Given the description of an element on the screen output the (x, y) to click on. 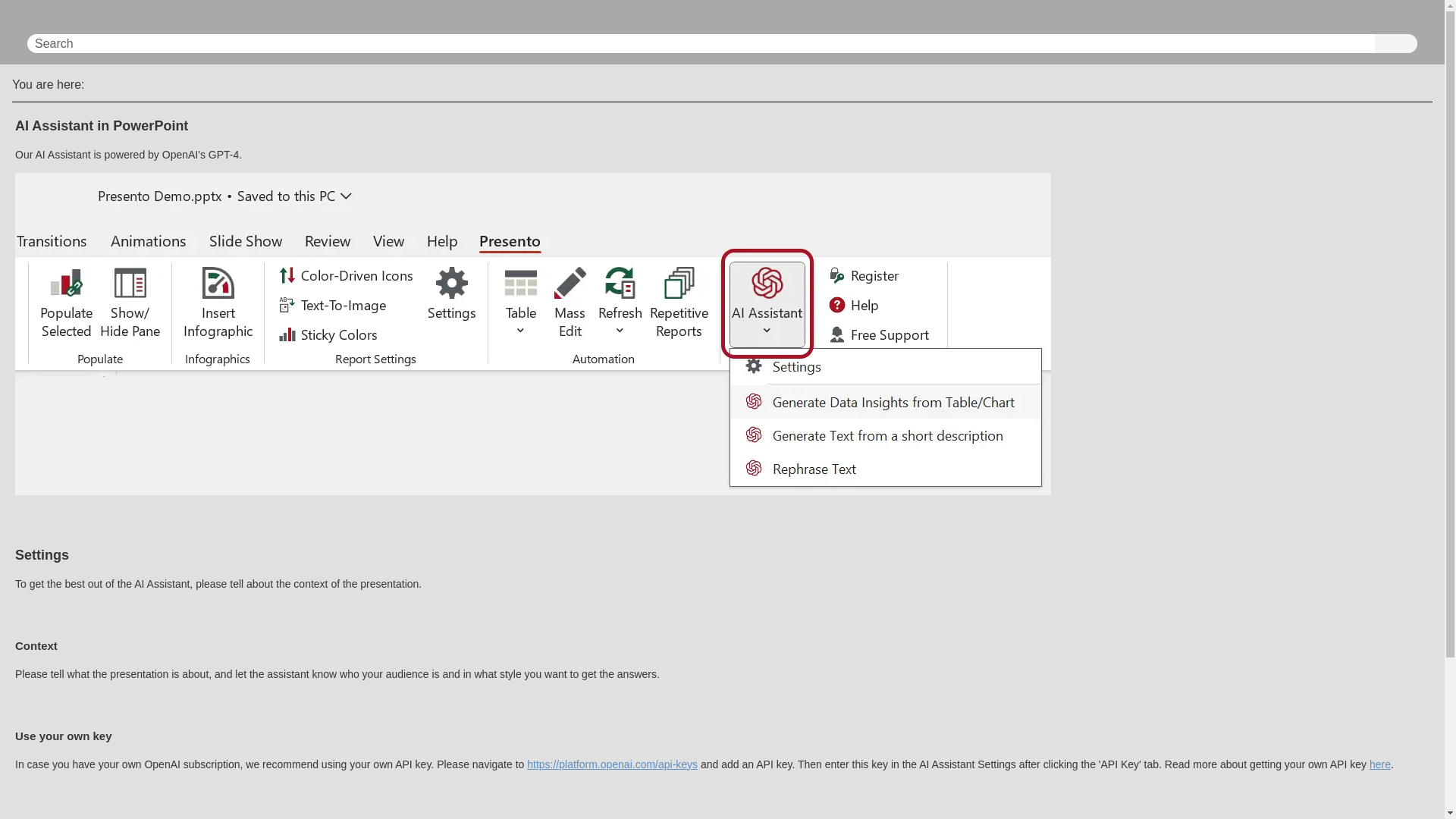
here (1380, 764)
Search (1395, 43)
